Given the description of an element on the screen output the (x, y) to click on. 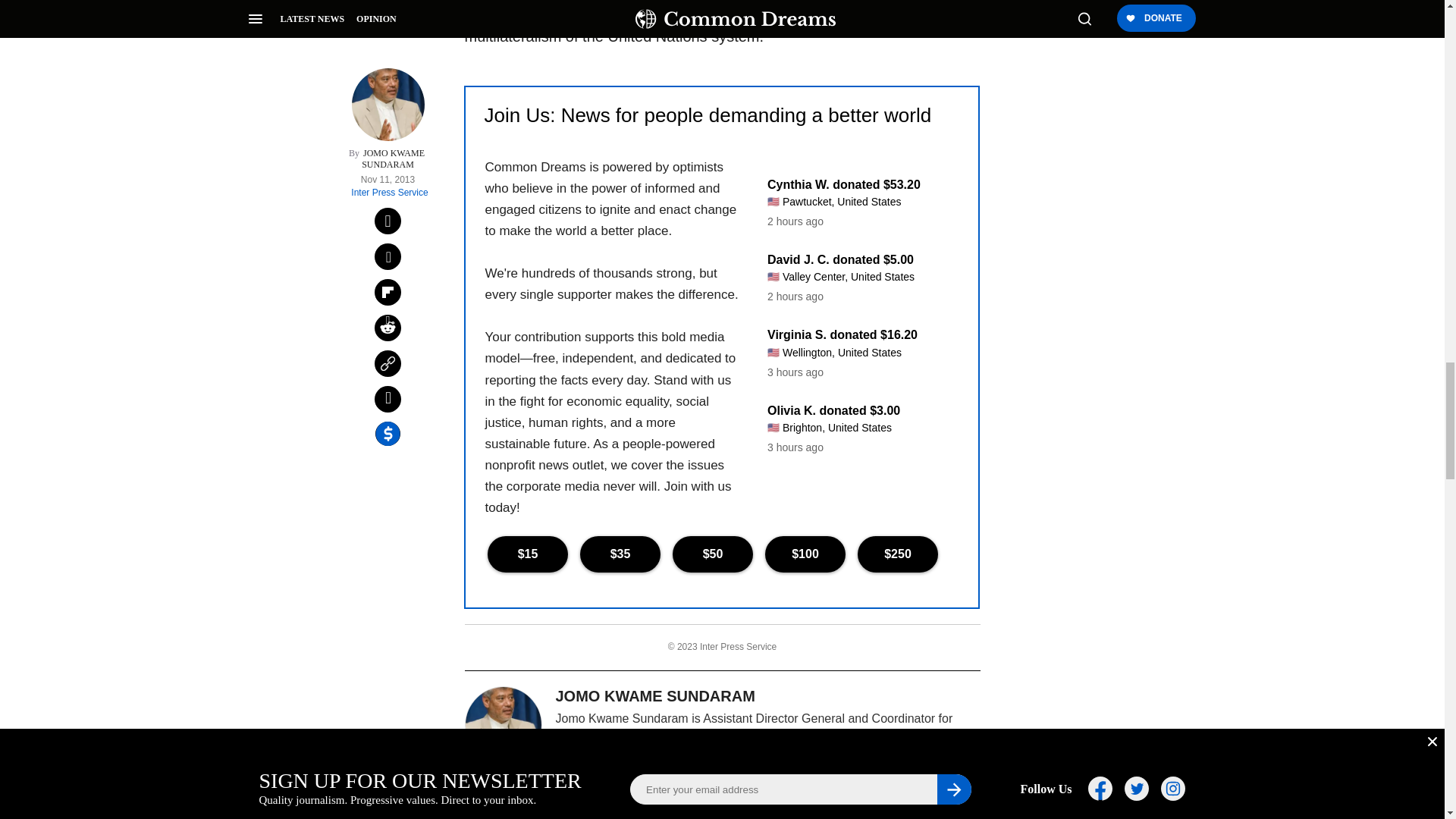
Donate Button Group (721, 554)
Recent Donations (852, 317)
